Given the description of an element on the screen output the (x, y) to click on. 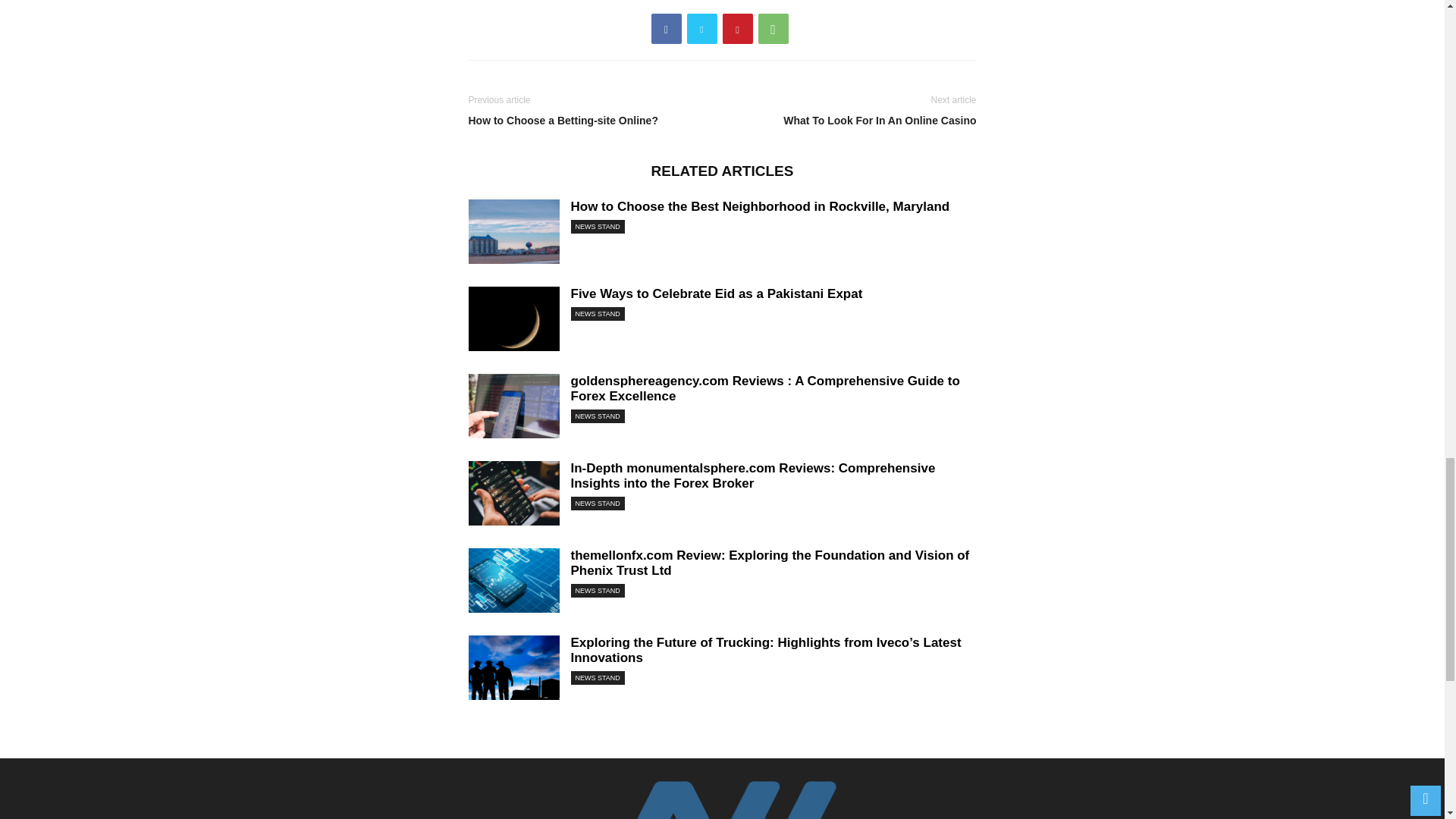
NEWS STAND (597, 677)
Facebook (665, 28)
WhatsApp (773, 28)
Pinterest (737, 28)
NEWS STAND (597, 226)
How to Choose a Betting-site Online? (591, 120)
How to Choose the Best Neighborhood in Rockville, Maryland (513, 233)
NEWS STAND (597, 314)
How to Choose the Best Neighborhood in Rockville, Maryland (759, 206)
NEWS STAND (597, 416)
NEWS STAND (597, 503)
Five Ways to Celebrate Eid as a Pakistani Expat (715, 293)
NEWS STAND (597, 590)
